Given the description of an element on the screen output the (x, y) to click on. 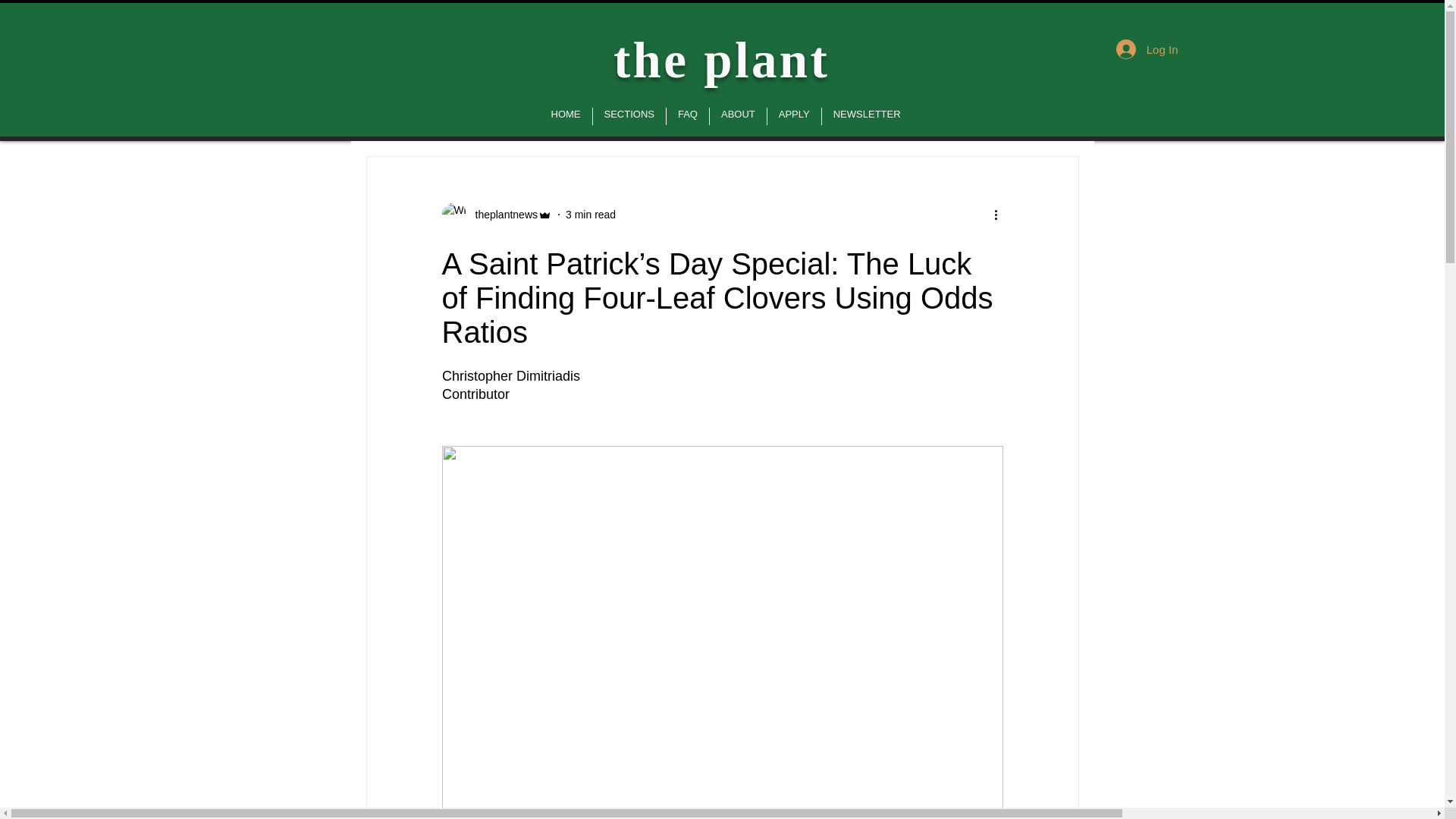
the plant (720, 59)
FAQ (687, 117)
3 min read (590, 214)
APPLY (794, 117)
Log In (1147, 49)
theplantnews (496, 214)
ABOUT (738, 117)
NEWSLETTER (867, 117)
HOME (566, 117)
theplantnews (501, 213)
